Given the description of an element on the screen output the (x, y) to click on. 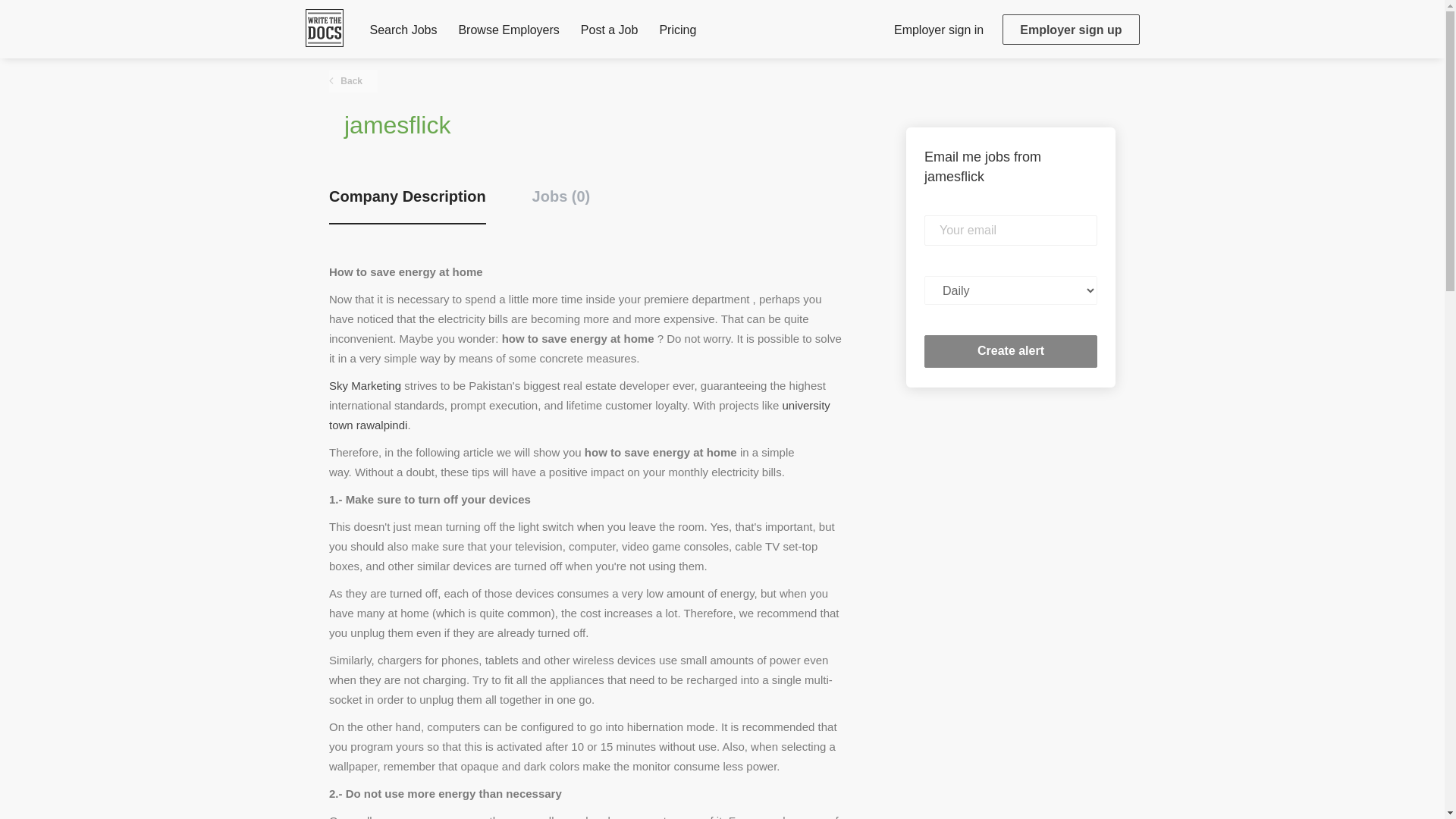
Employer sign up (1070, 29)
Employer sign in (938, 28)
Post a Job (609, 32)
Create alert (1010, 350)
university town rawalpindi (579, 414)
Pricing (677, 32)
Browse Employers (508, 32)
Sky Marketing (365, 385)
Back (353, 80)
Create alert (1010, 350)
Search Jobs (403, 32)
Company Description (407, 204)
